Given the description of an element on the screen output the (x, y) to click on. 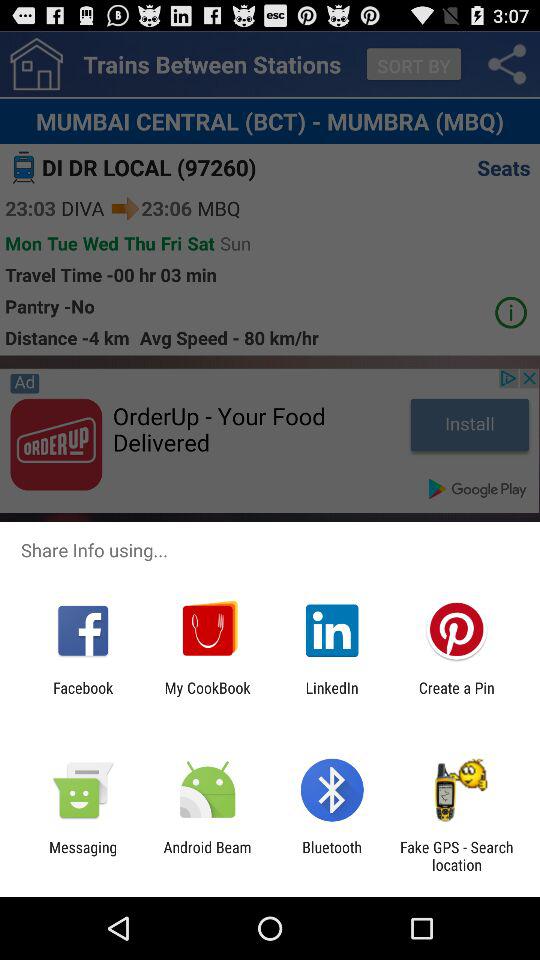
press the app next to the bluetooth (207, 856)
